Given the description of an element on the screen output the (x, y) to click on. 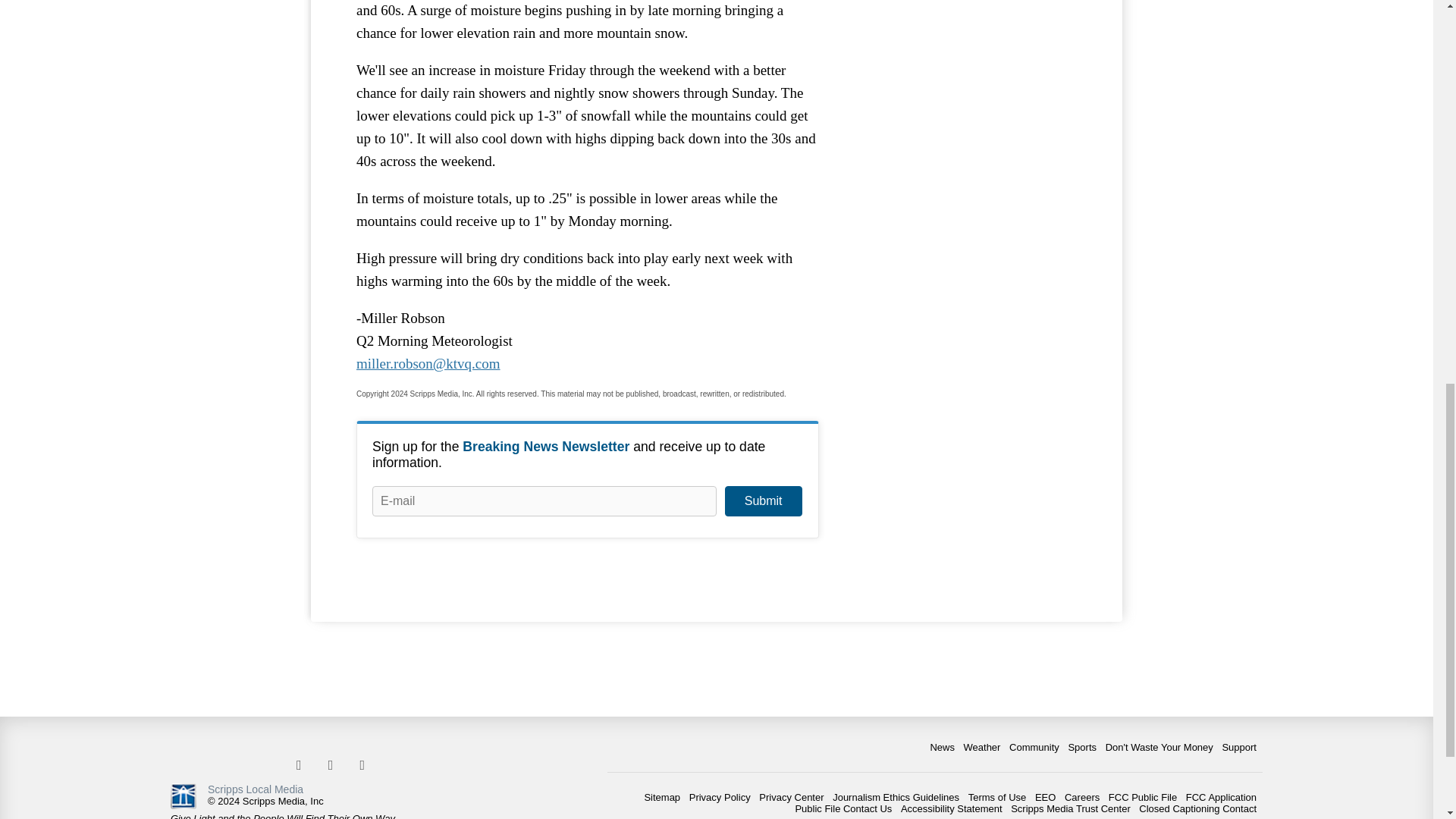
Submit (763, 501)
